Given the description of an element on the screen output the (x, y) to click on. 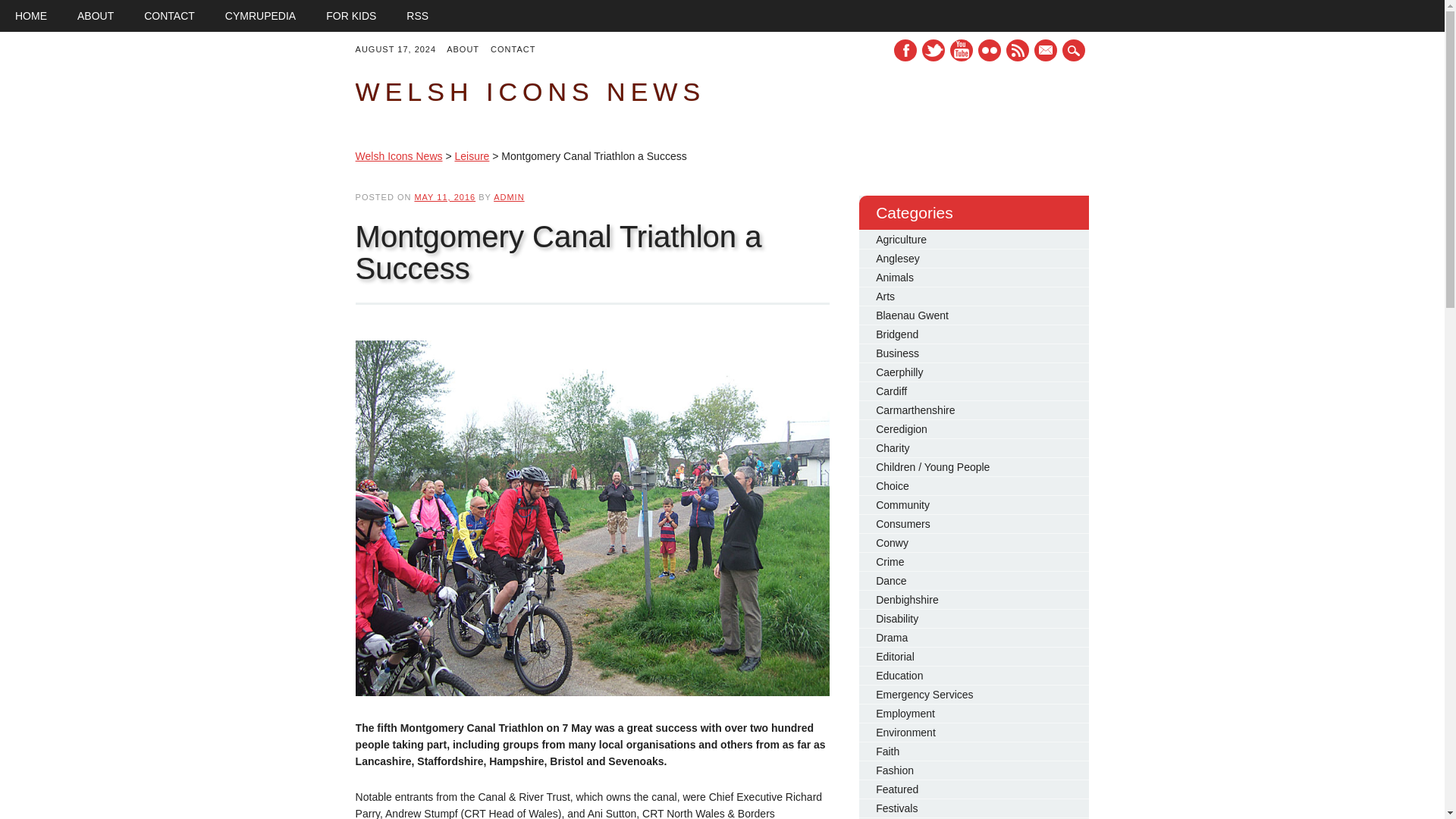
Go to Welsh Icons News. (398, 155)
HOME (31, 15)
CYMRUPEDIA (260, 15)
Welsh Icons News (529, 91)
ABOUT (95, 15)
View all posts by admin (508, 196)
Go to the Leisure category archives. (471, 155)
CONTACT (169, 15)
12:31 pm (444, 196)
